Given the description of an element on the screen output the (x, y) to click on. 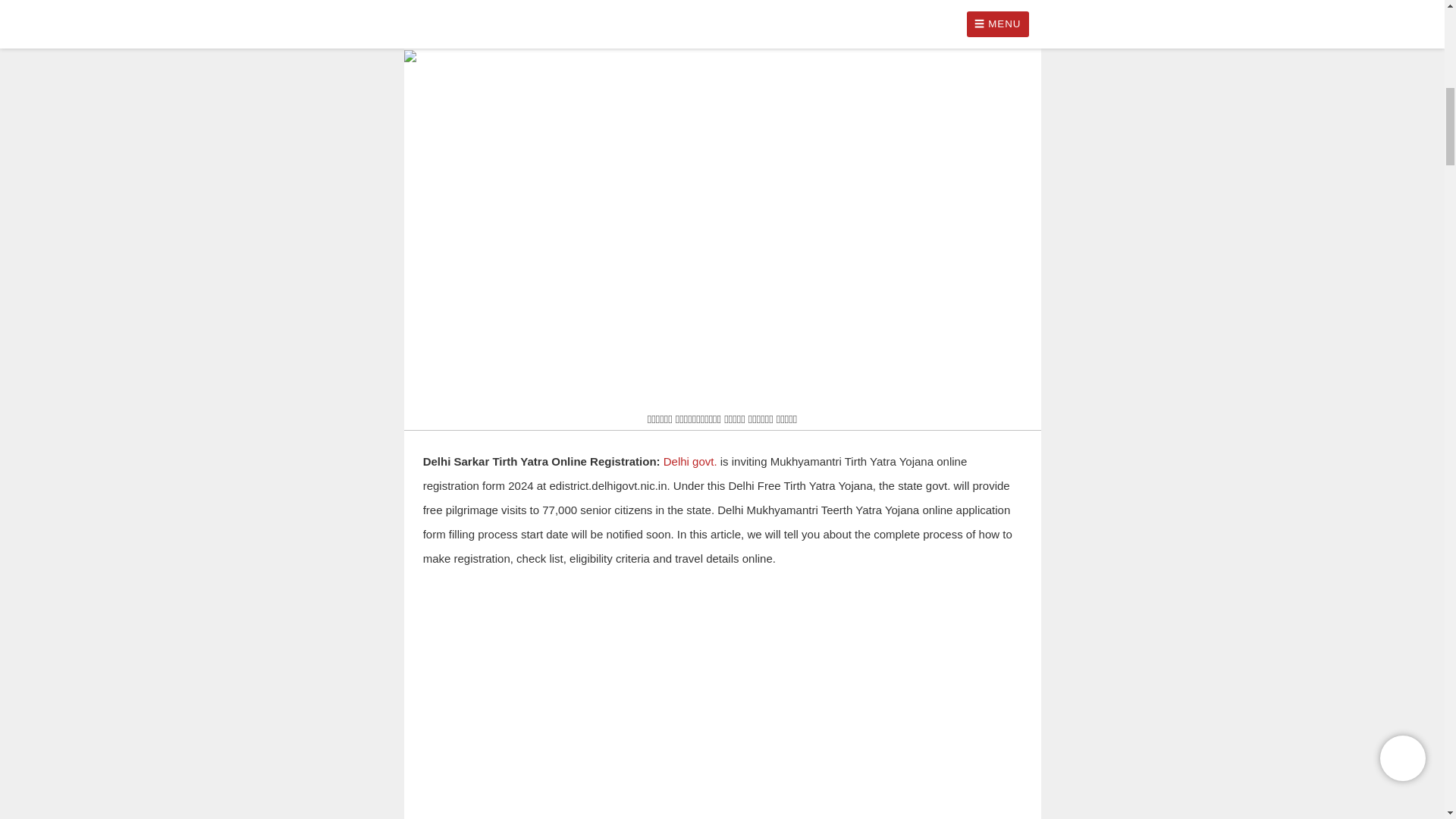
Delhi govt. (690, 461)
